Given the description of an element on the screen output the (x, y) to click on. 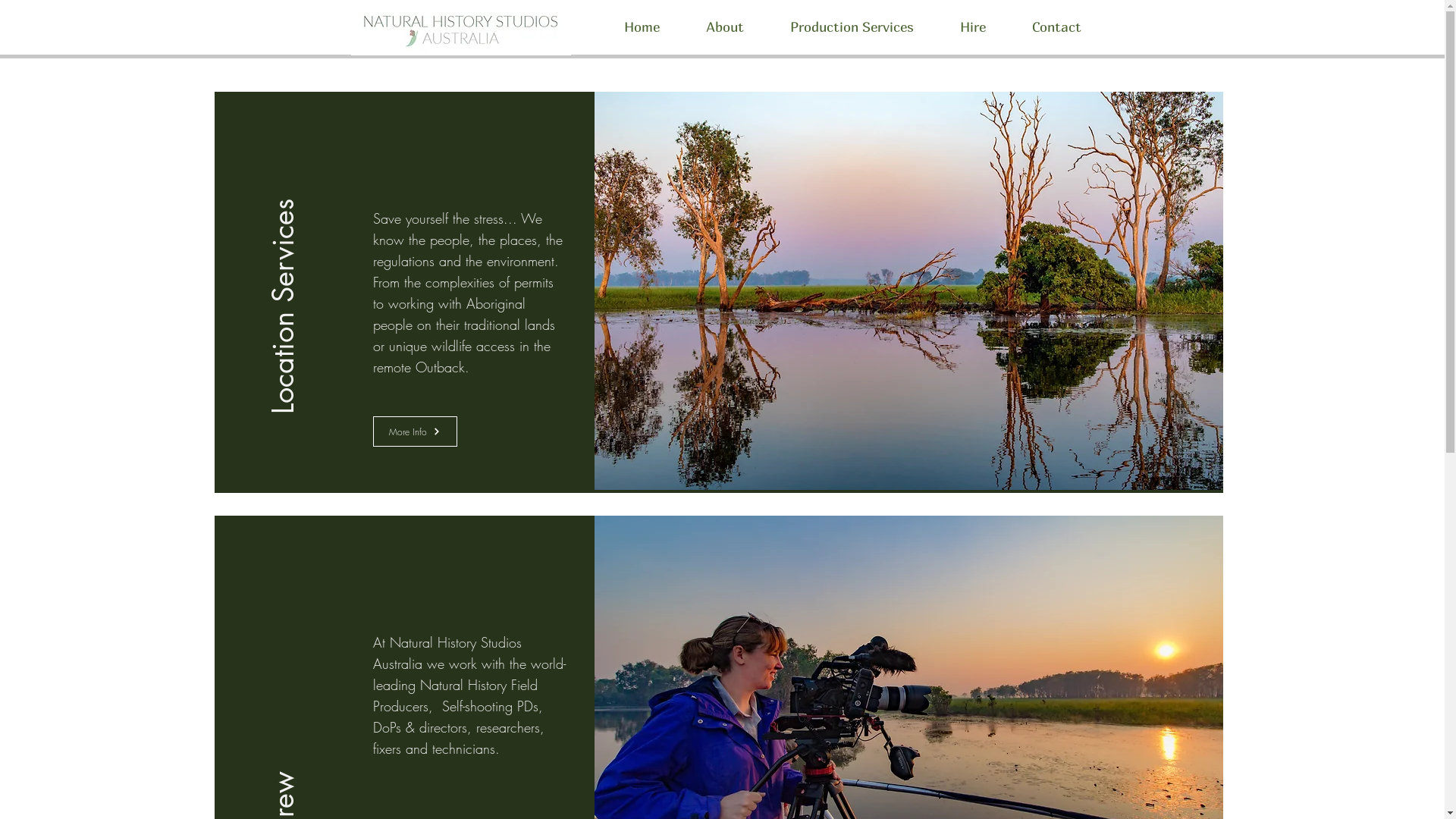
Home Element type: text (641, 20)
Crew Element type: text (397, 576)
Hire Element type: text (973, 20)
About Element type: text (724, 20)
More Info Element type: text (415, 431)
Production Services Element type: text (852, 20)
Contact Element type: text (1055, 20)
